Given the description of an element on the screen output the (x, y) to click on. 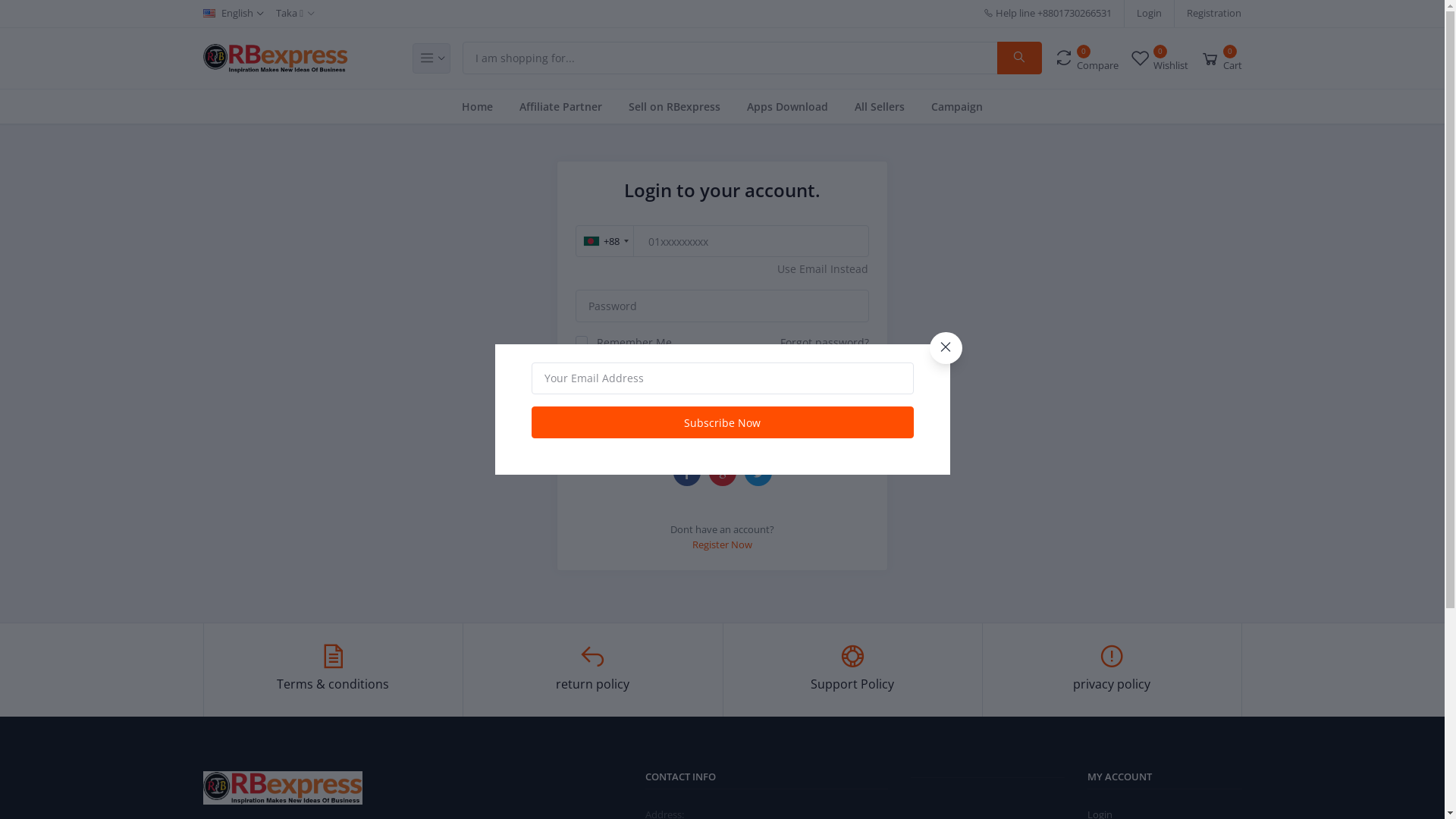
Help line +8801730266531 Element type: text (1047, 13)
Apps Download Element type: text (787, 106)
Home Element type: text (477, 106)
Affiliate Partner Element type: text (560, 106)
Campaign Element type: text (956, 106)
0
Compare Element type: text (1086, 57)
English Element type: text (233, 13)
Login Element type: text (722, 379)
Use Email Instead Element type: text (822, 268)
0
Cart Element type: text (1220, 57)
All Sellers Element type: text (879, 106)
Terms & conditions Element type: text (333, 669)
Login Element type: text (1148, 13)
Support Policy Element type: text (851, 669)
Forgot password? Element type: text (824, 342)
Subscribe Now Element type: text (721, 422)
privacy policy Element type: text (1112, 669)
Registration Element type: text (1213, 13)
return policy Element type: text (592, 669)
0
Wishlist Element type: text (1158, 57)
Sell on RBexpress Element type: text (674, 106)
Register Now Element type: text (722, 544)
